Given the description of an element on the screen output the (x, y) to click on. 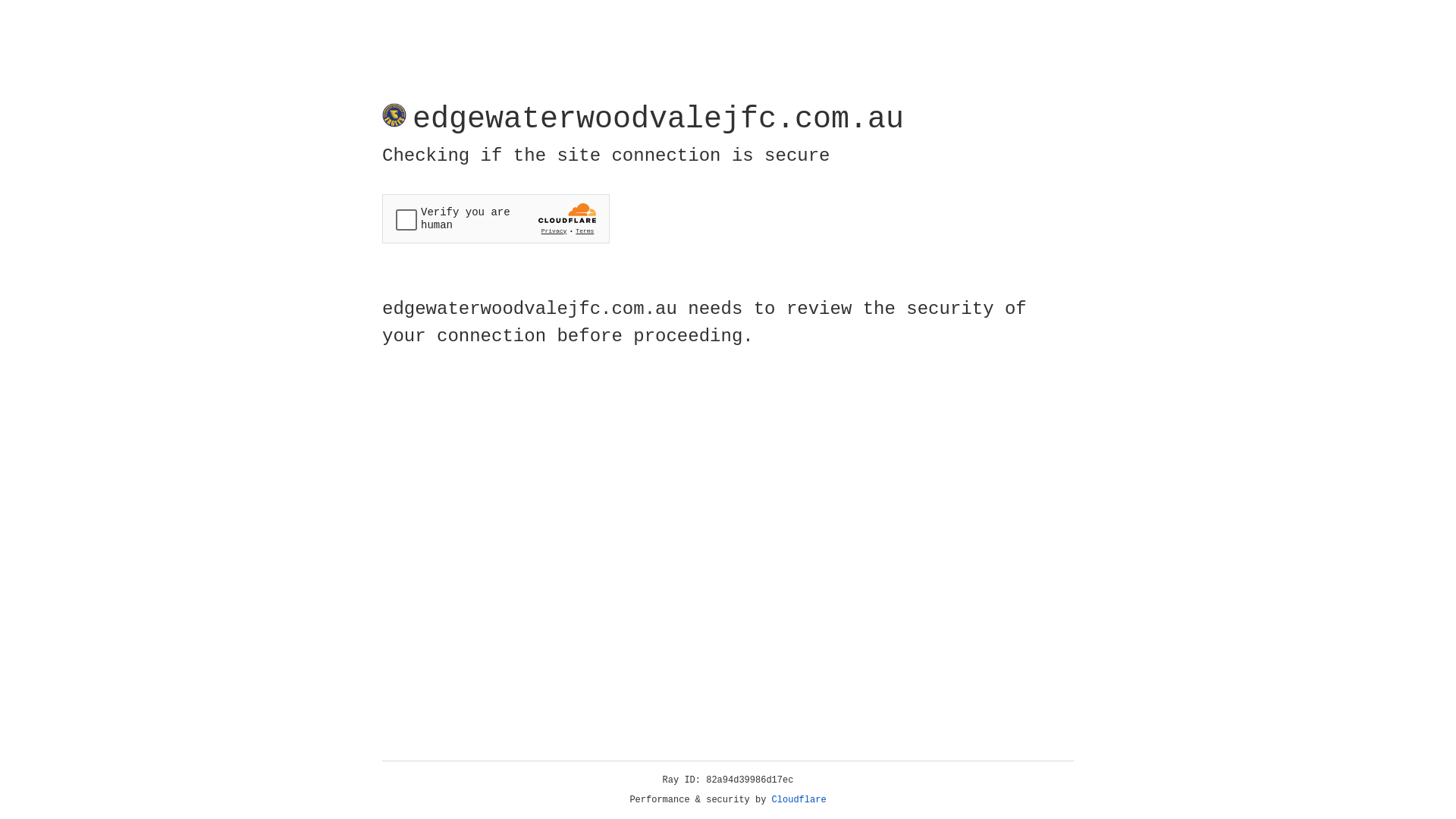
Widget containing a Cloudflare security challenge Element type: hover (495, 218)
Cloudflare Element type: text (798, 799)
